Given the description of an element on the screen output the (x, y) to click on. 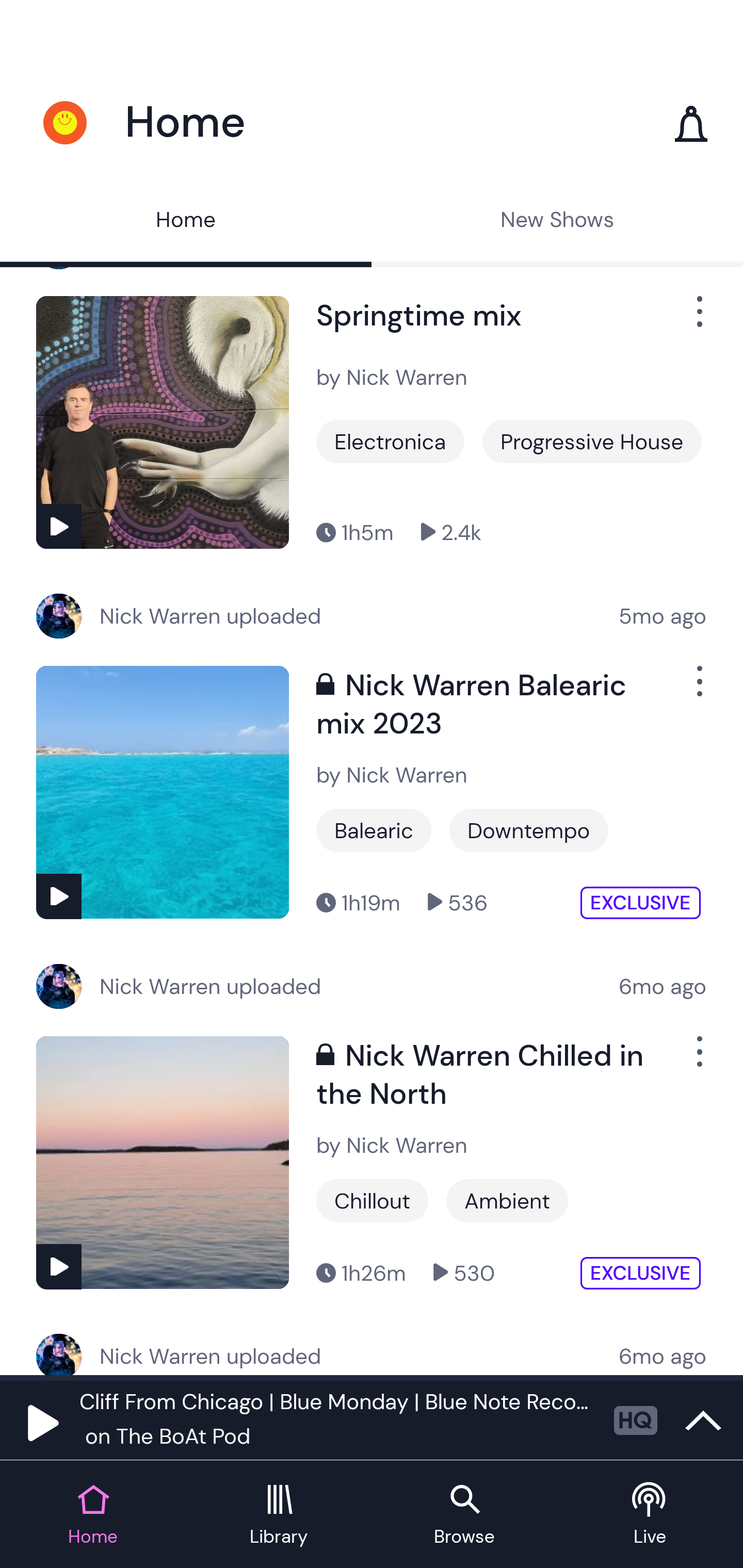
Home (185, 221)
New Shows (557, 221)
Show Options Menu Button (697, 319)
Electronica (390, 441)
Progressive House (591, 441)
Show Options Menu Button (697, 689)
Balearic (373, 830)
Downtempo (528, 830)
Show Options Menu Button (697, 1059)
Chillout (371, 1201)
Ambient (507, 1201)
Home tab Home (92, 1515)
Library tab Library (278, 1515)
Browse tab Browse (464, 1515)
Live tab Live (650, 1515)
